Given the description of an element on the screen output the (x, y) to click on. 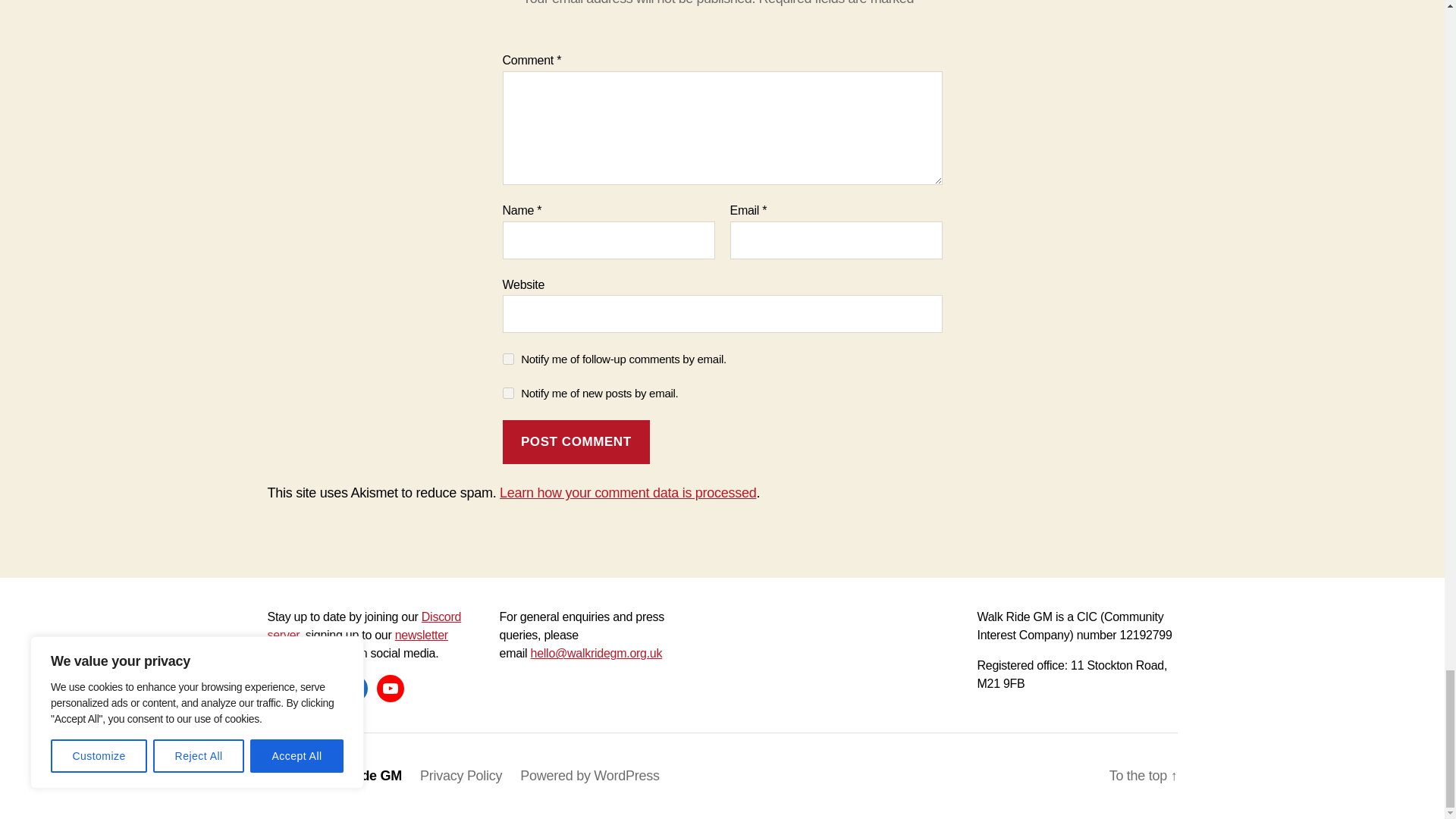
subscribe (507, 392)
subscribe (507, 358)
Post Comment (575, 442)
